Given the description of an element on the screen output the (x, y) to click on. 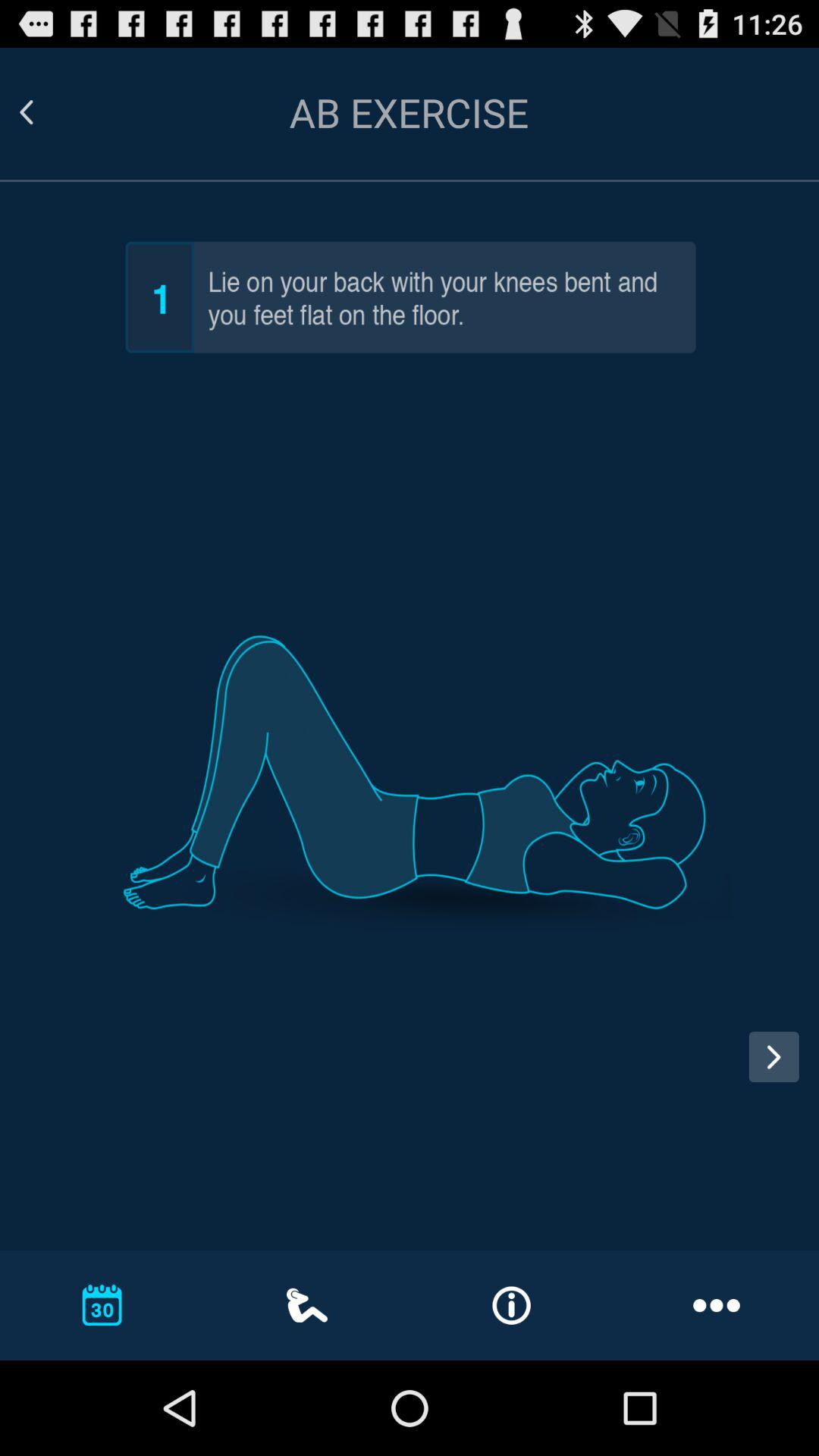
next (779, 1071)
